Given the description of an element on the screen output the (x, y) to click on. 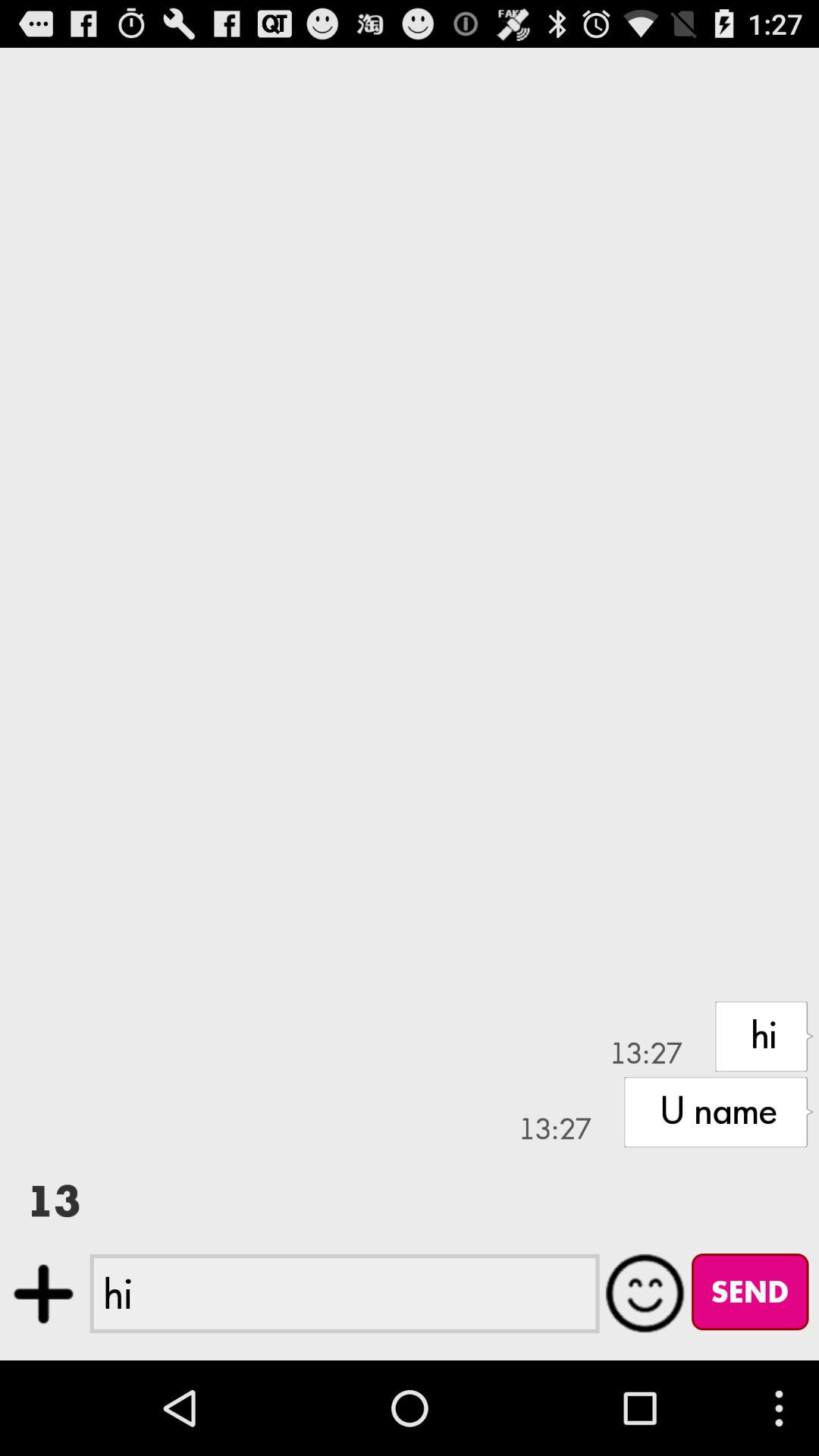
adding smiley option (645, 1293)
